Given the description of an element on the screen output the (x, y) to click on. 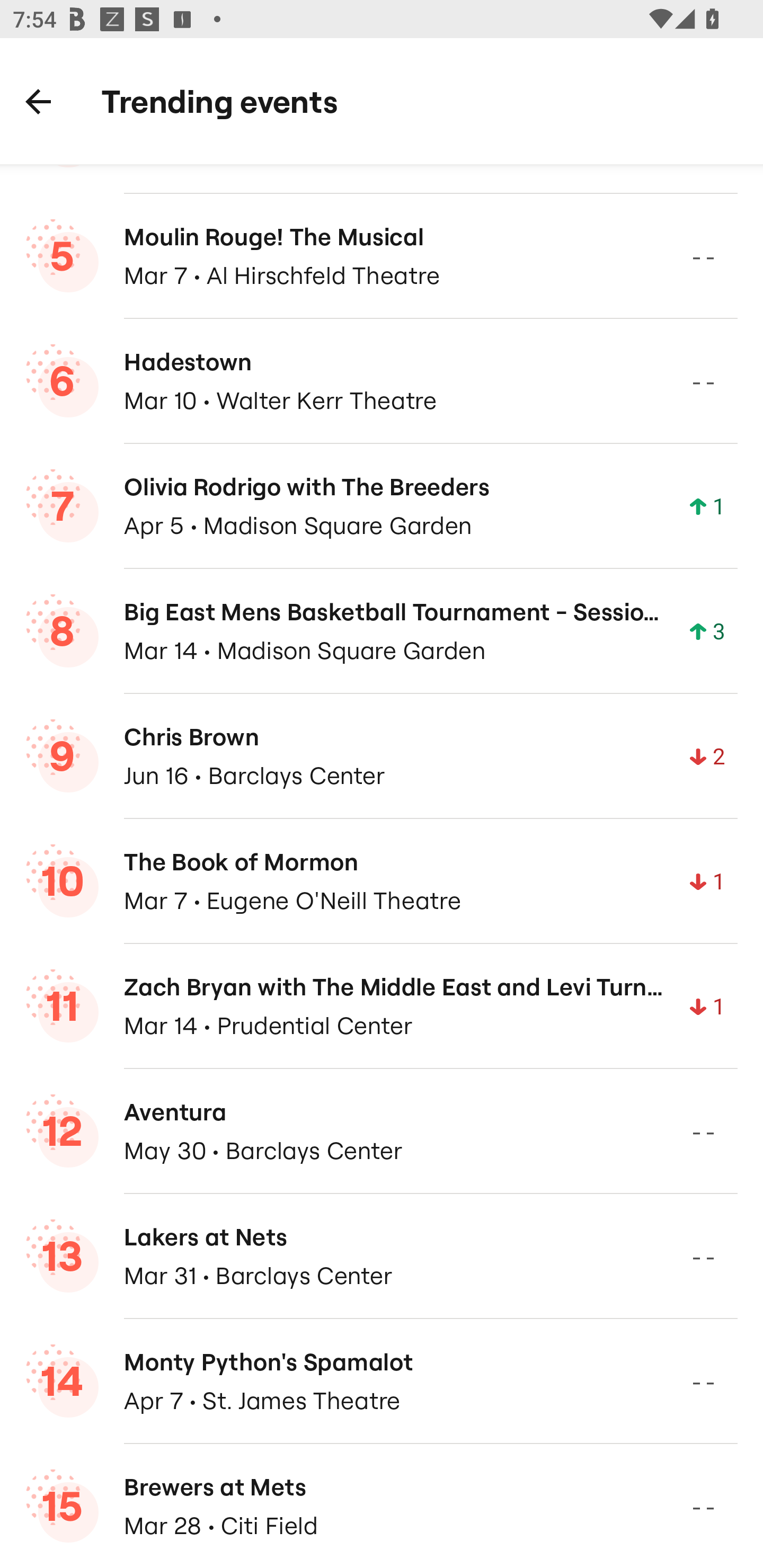
Back (38, 100)
